Given the description of an element on the screen output the (x, y) to click on. 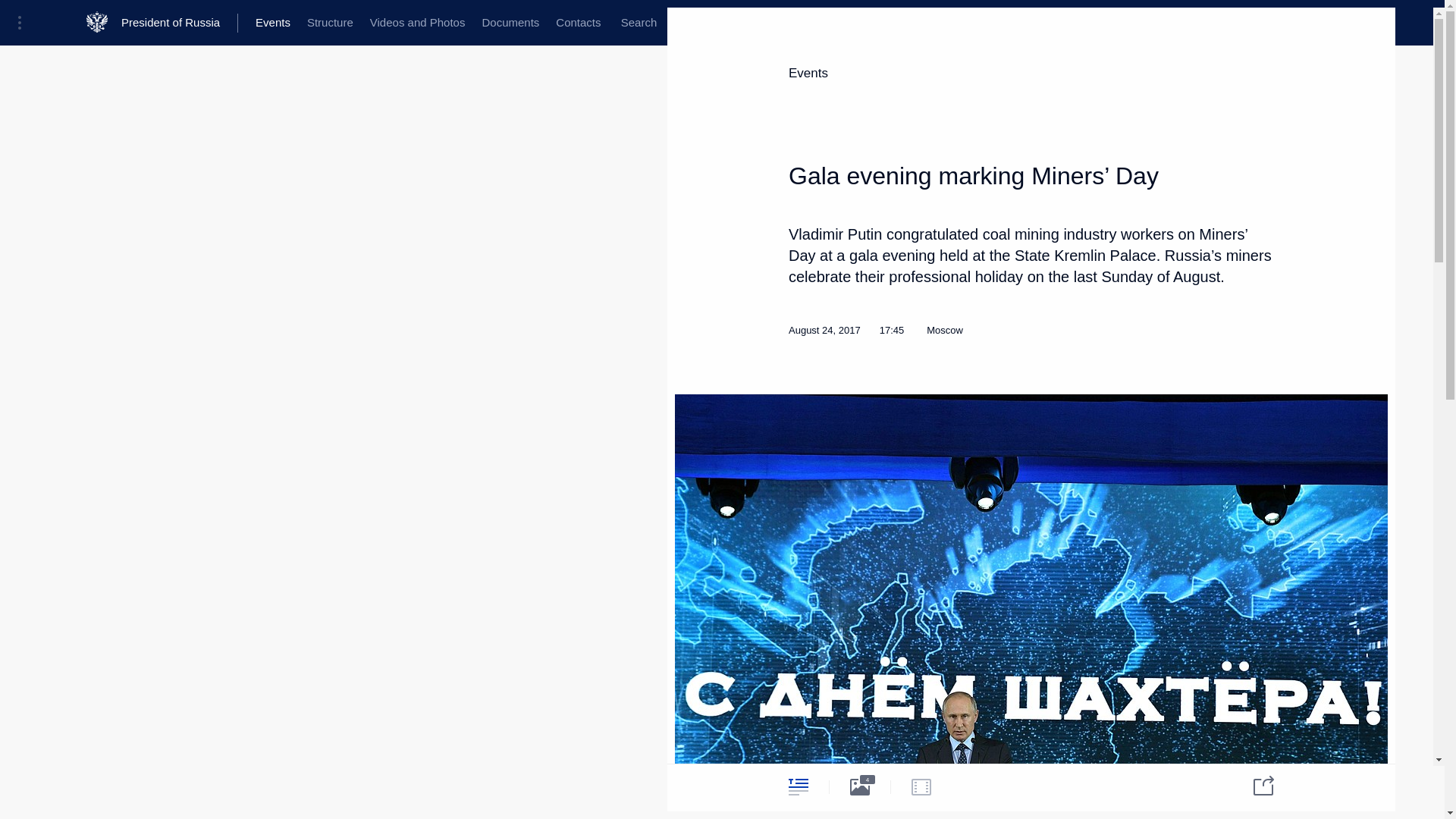
Share (1253, 784)
Contacts (577, 22)
President of Russia (179, 22)
Portal Menu (24, 22)
Videos and Photos (417, 22)
Documents (510, 22)
Search (638, 22)
Video (921, 786)
Events (272, 22)
